Given the description of an element on the screen output the (x, y) to click on. 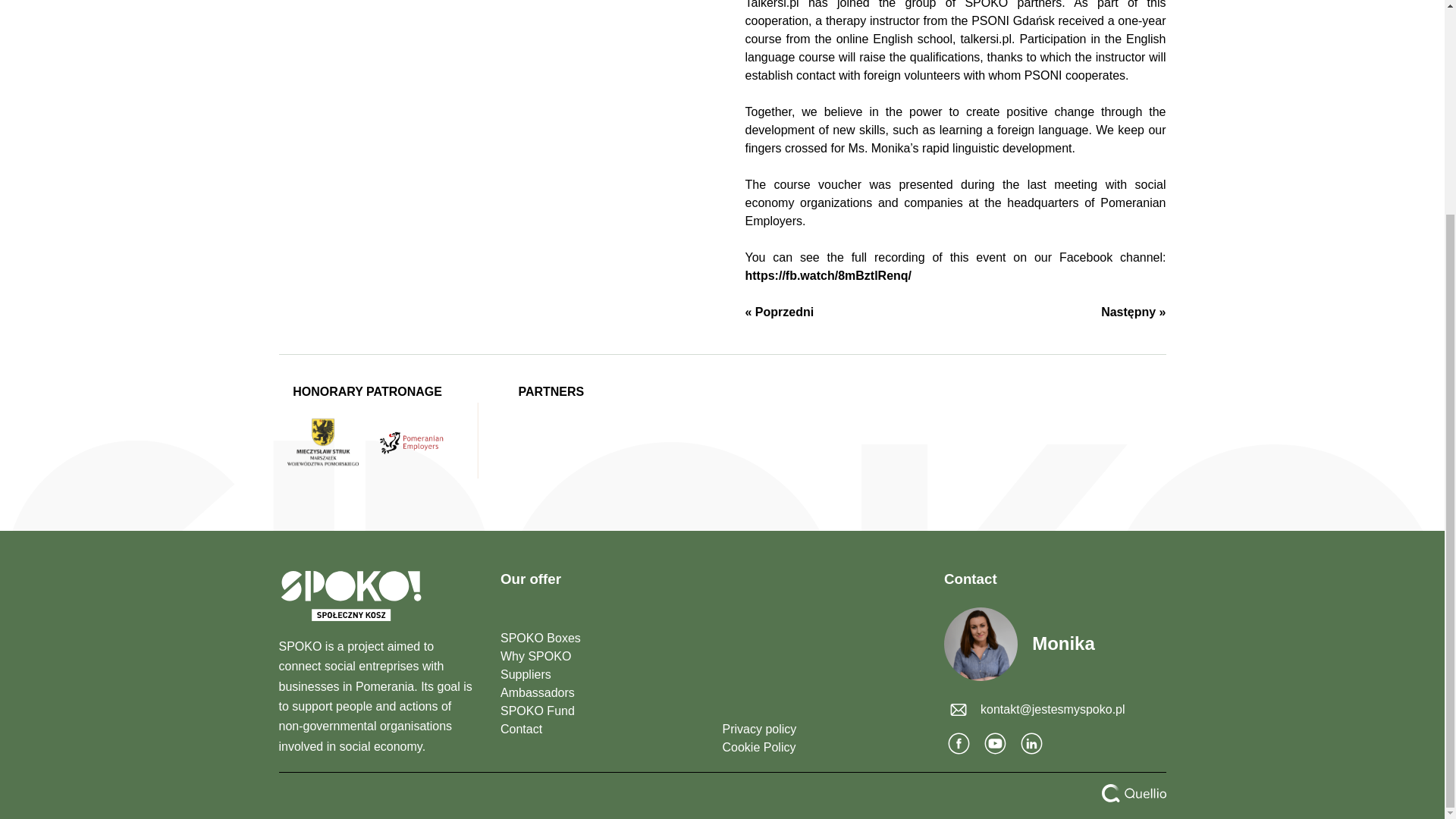
Privacy policy (821, 729)
Privacy policy (821, 729)
Ambassadors (600, 692)
Cookie Policy (821, 747)
Why SPOKO (600, 656)
Suppliers (600, 674)
SPOKO Fund (600, 710)
Cookie Policy (821, 747)
SPOKO Boxes (600, 638)
